Given the description of an element on the screen output the (x, y) to click on. 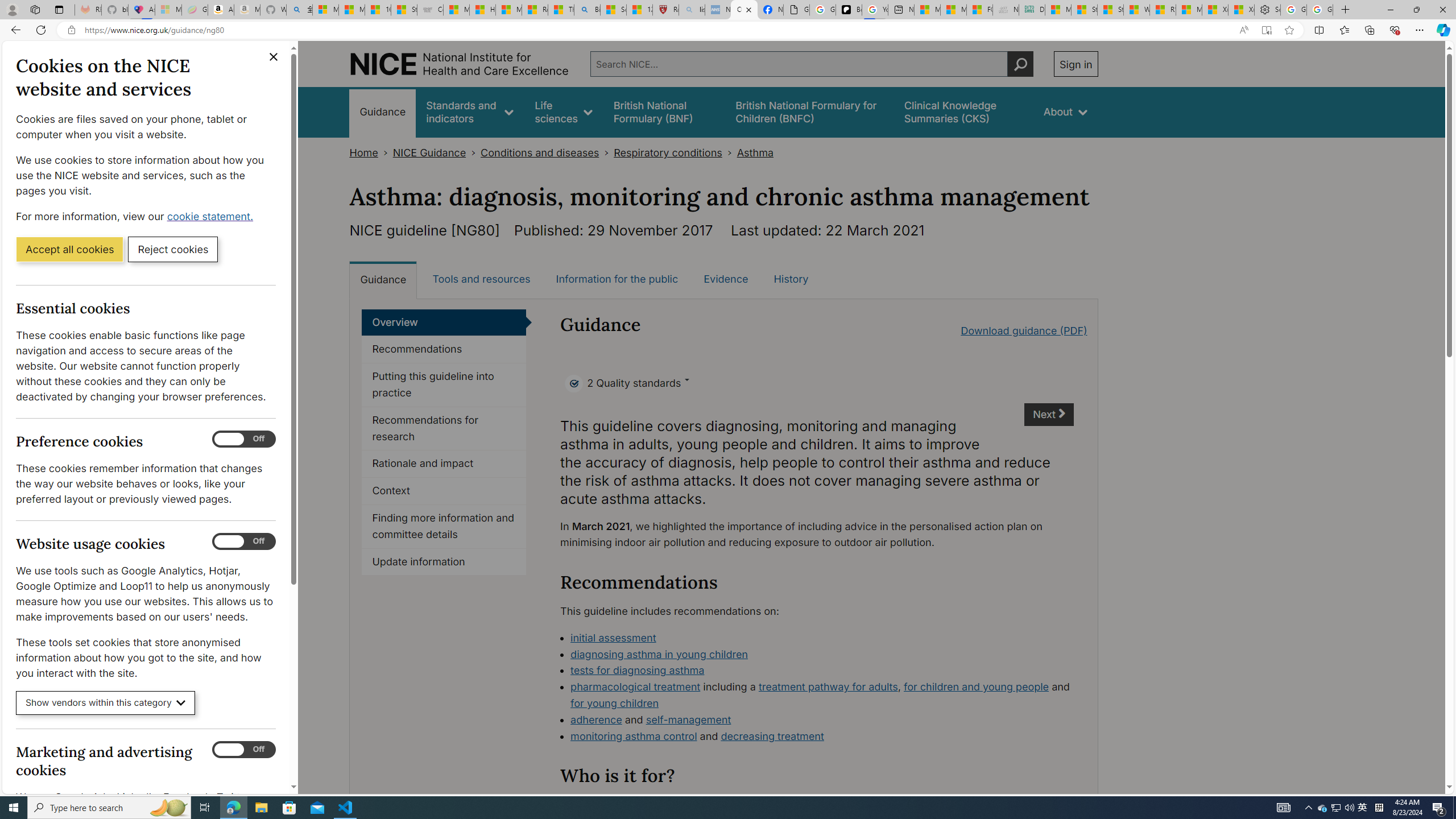
Information for the public (617, 279)
Conditions and diseases (539, 152)
Life sciences (563, 111)
NICE Guidance> (436, 152)
tests for diagnosing asthma (637, 670)
Google Analytics Opt-out Browser Add-on Download Page (795, 9)
